Given the description of an element on the screen output the (x, y) to click on. 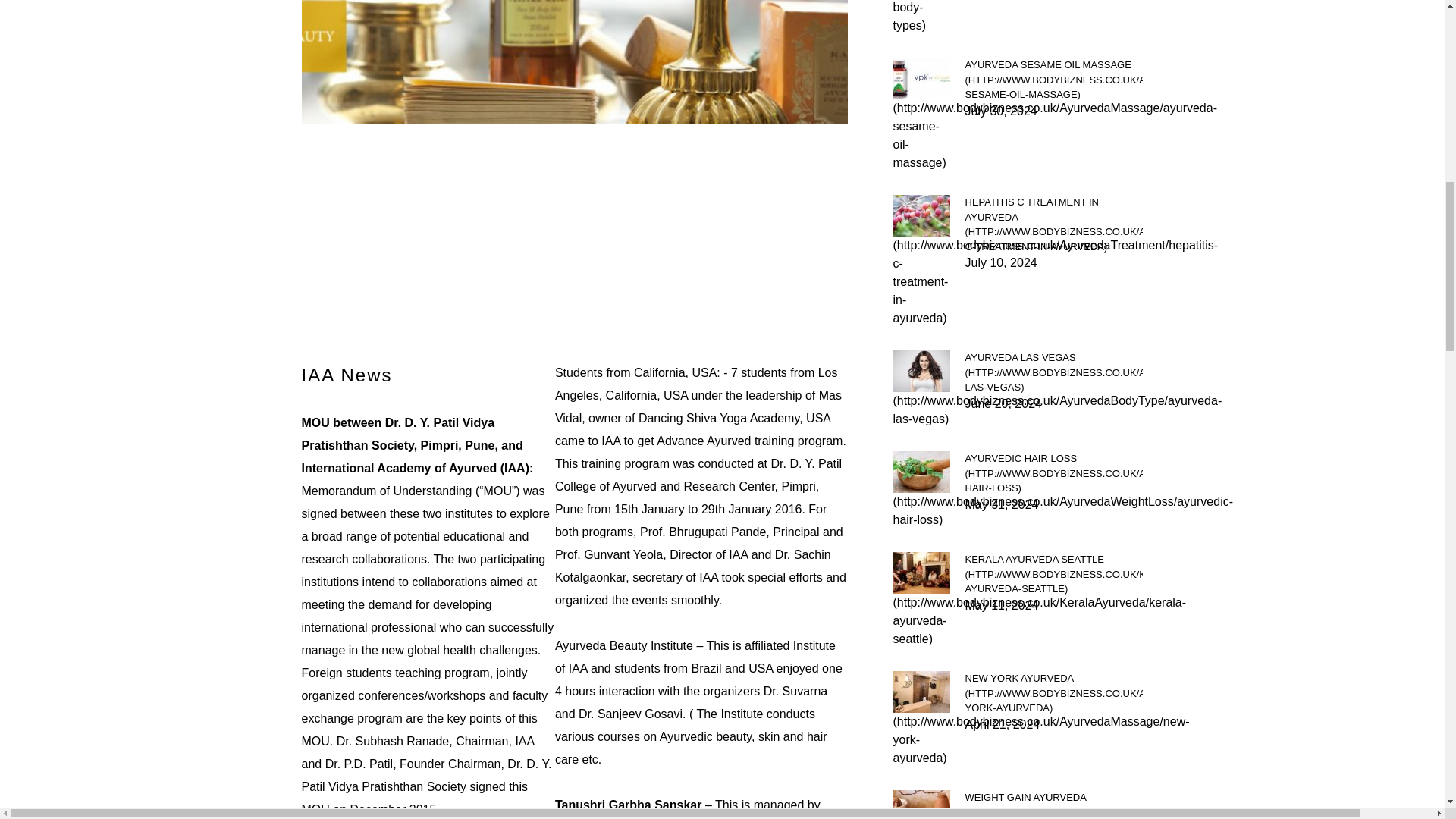
HEPATITIS C TREATMENT IN AYURVEDA (1052, 223)
NEW YORK AYURVEDA (1052, 692)
Advertisement (574, 255)
AYURVEDA LAS VEGAS (1052, 372)
AYURVEDA SESAME OIL MASSAGE (1052, 79)
AYURVEDIC HAIR LOSS (1052, 473)
KERALA AYURVEDA SEATTLE (1052, 574)
WEIGHT GAIN AYURVEDA (1052, 804)
